Given the description of an element on the screen output the (x, y) to click on. 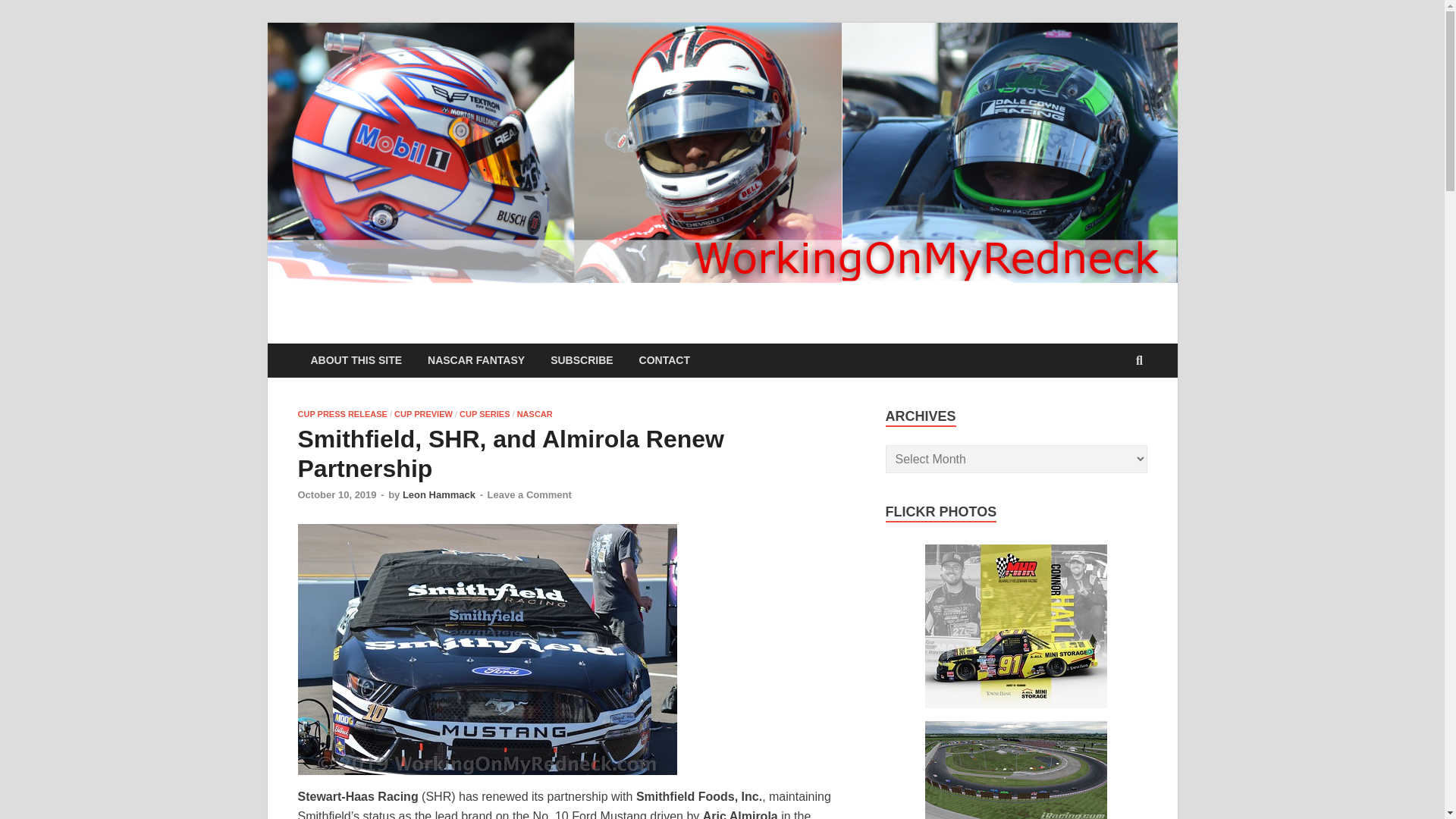
CUP PRESS RELEASE (342, 413)
CUP PREVIEW (423, 413)
lucas-oil-raceway-iracing (1015, 770)
SUBSCRIBE (581, 360)
Connor Hall (1015, 626)
NASCAR (534, 413)
CONTACT (664, 360)
Leave a Comment (529, 494)
October 10, 2019 (336, 494)
ABOUT THIS SITE (355, 360)
NASCAR FANTASY (475, 360)
CUP SERIES (484, 413)
Leon Hammack (439, 494)
